Given the description of an element on the screen output the (x, y) to click on. 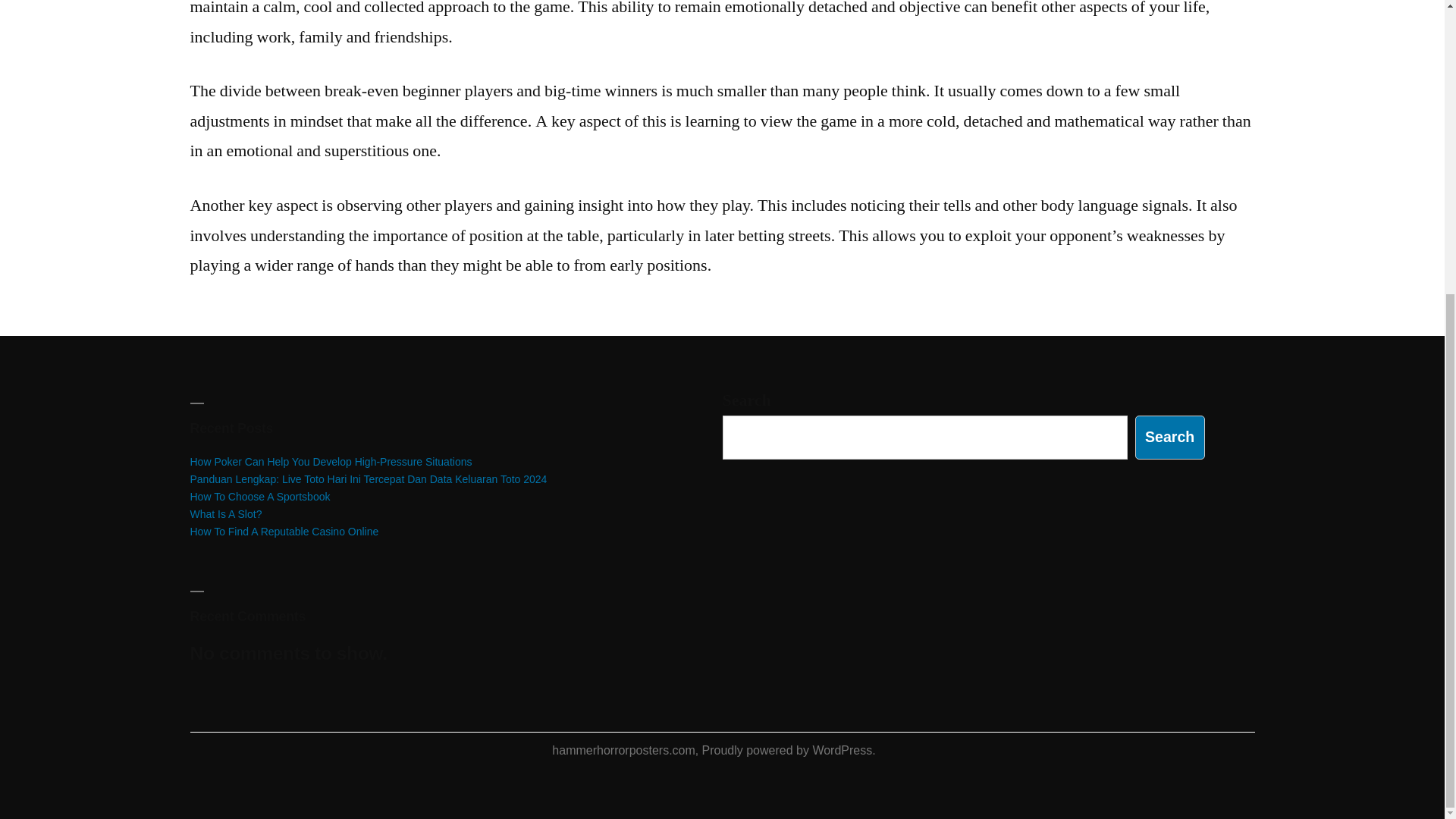
How Poker Can Help You Develop High-Pressure Situations (330, 461)
How To Find A Reputable Casino Online (283, 531)
How To Choose A Sportsbook (259, 496)
Search (1170, 436)
hammerhorrorposters.com (623, 749)
What Is A Slot? (225, 513)
Proudly powered by WordPress. (788, 749)
